Given the description of an element on the screen output the (x, y) to click on. 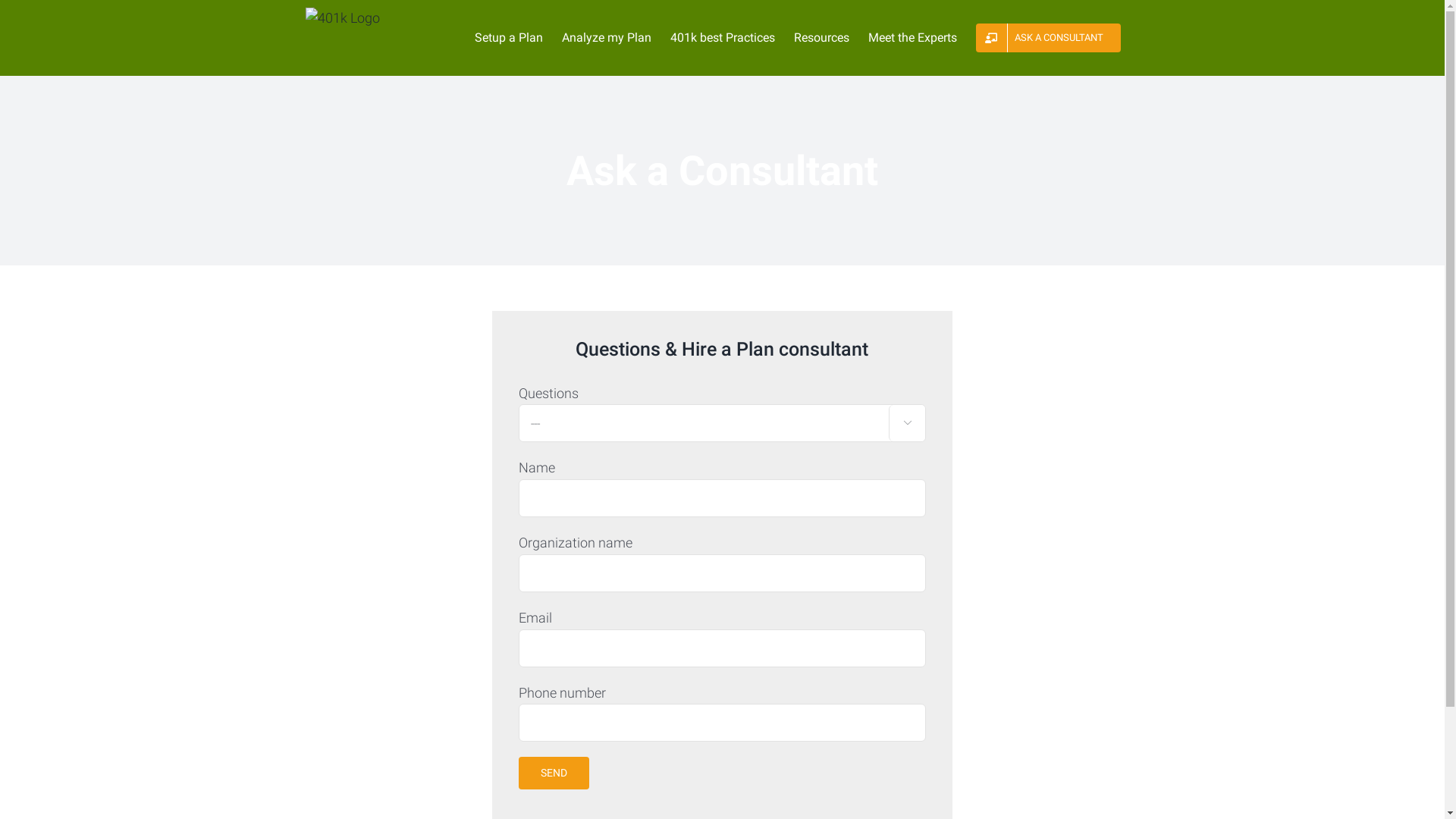
Meet the Experts Element type: text (911, 37)
Setup a Plan Element type: text (508, 37)
ASK A CONSULTANT Element type: text (1047, 37)
Resources Element type: text (820, 37)
Send Element type: text (553, 772)
401k best Practices Element type: text (722, 37)
Analyze my Plan Element type: text (605, 37)
